Given the description of an element on the screen output the (x, y) to click on. 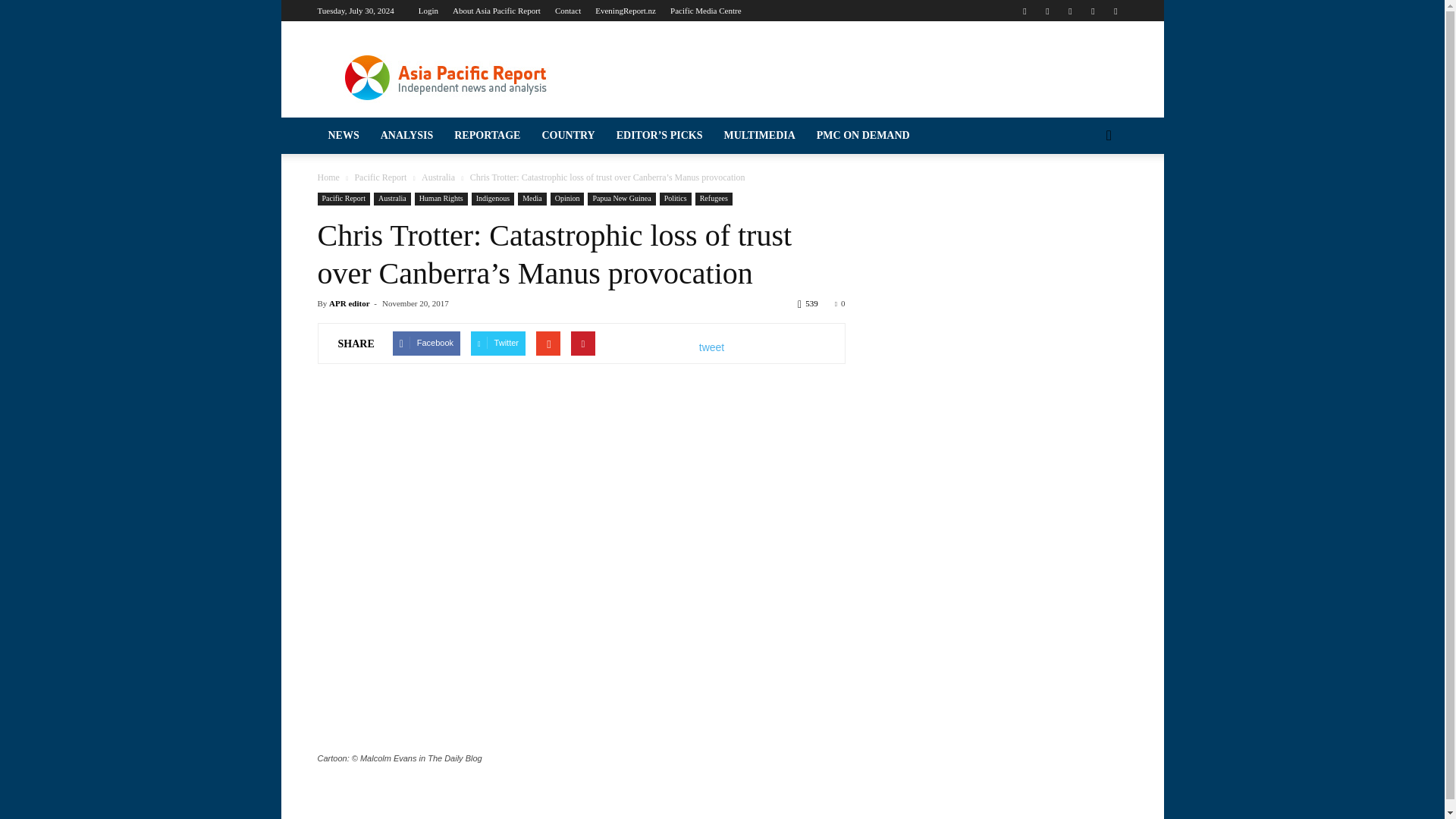
Climate (140, 244)
RSS (1069, 10)
Rapanui (140, 681)
Asia Pacific Report (445, 76)
Fiji (140, 421)
APJS newsfile (140, 215)
Twitter (1092, 10)
Pacific Report (140, 306)
Pacific Report (140, 157)
Federated States of Micronesia (140, 393)
Kiribati (140, 451)
Tahiti (140, 767)
Niue (140, 594)
Facebook (1024, 10)
Palau-Belau (140, 623)
